Given the description of an element on the screen output the (x, y) to click on. 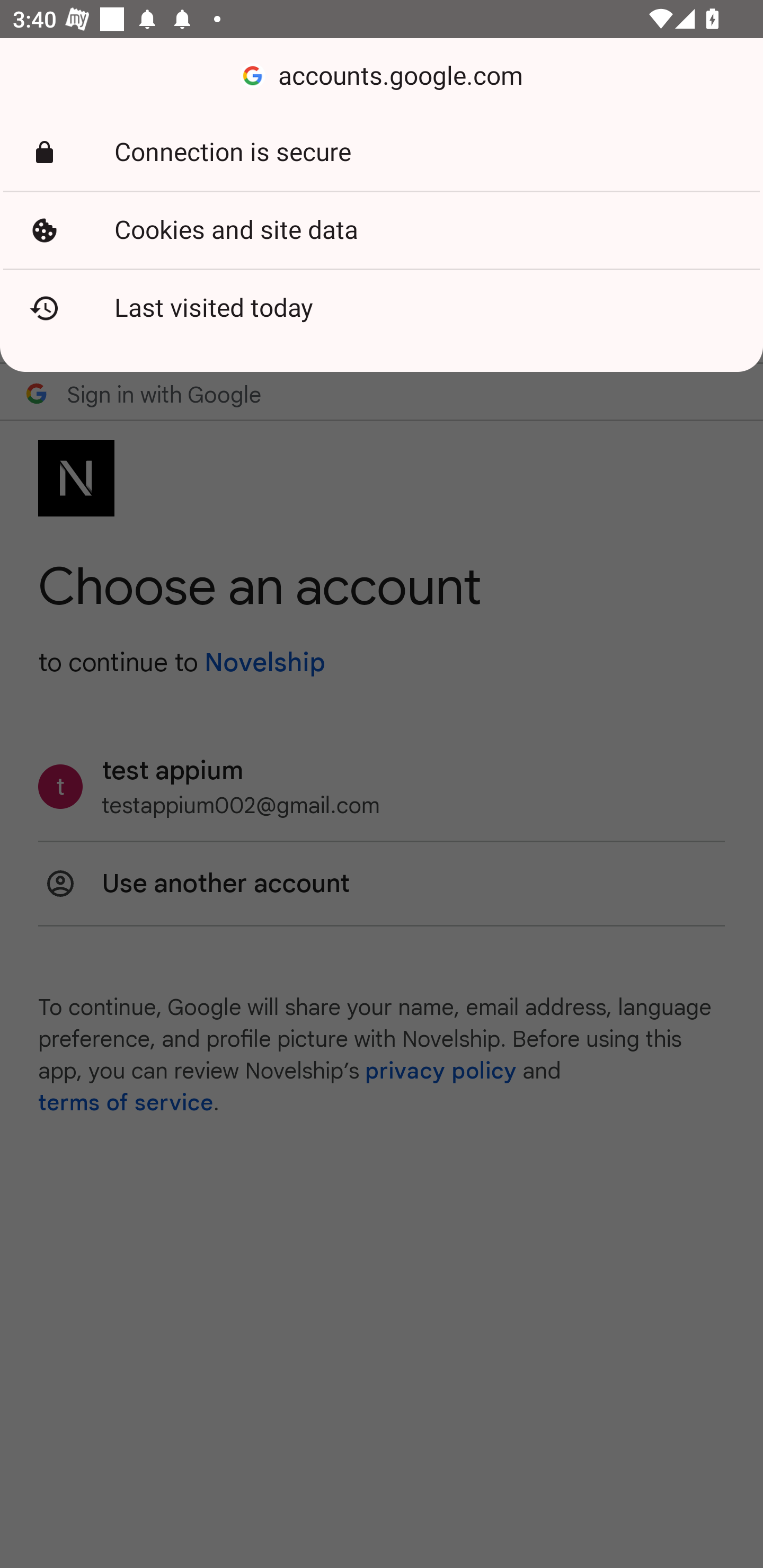
accounts.google.com (381, 75)
Connection is secure (381, 152)
Cookies and site data (381, 230)
Last visited today (381, 307)
